Given the description of an element on the screen output the (x, y) to click on. 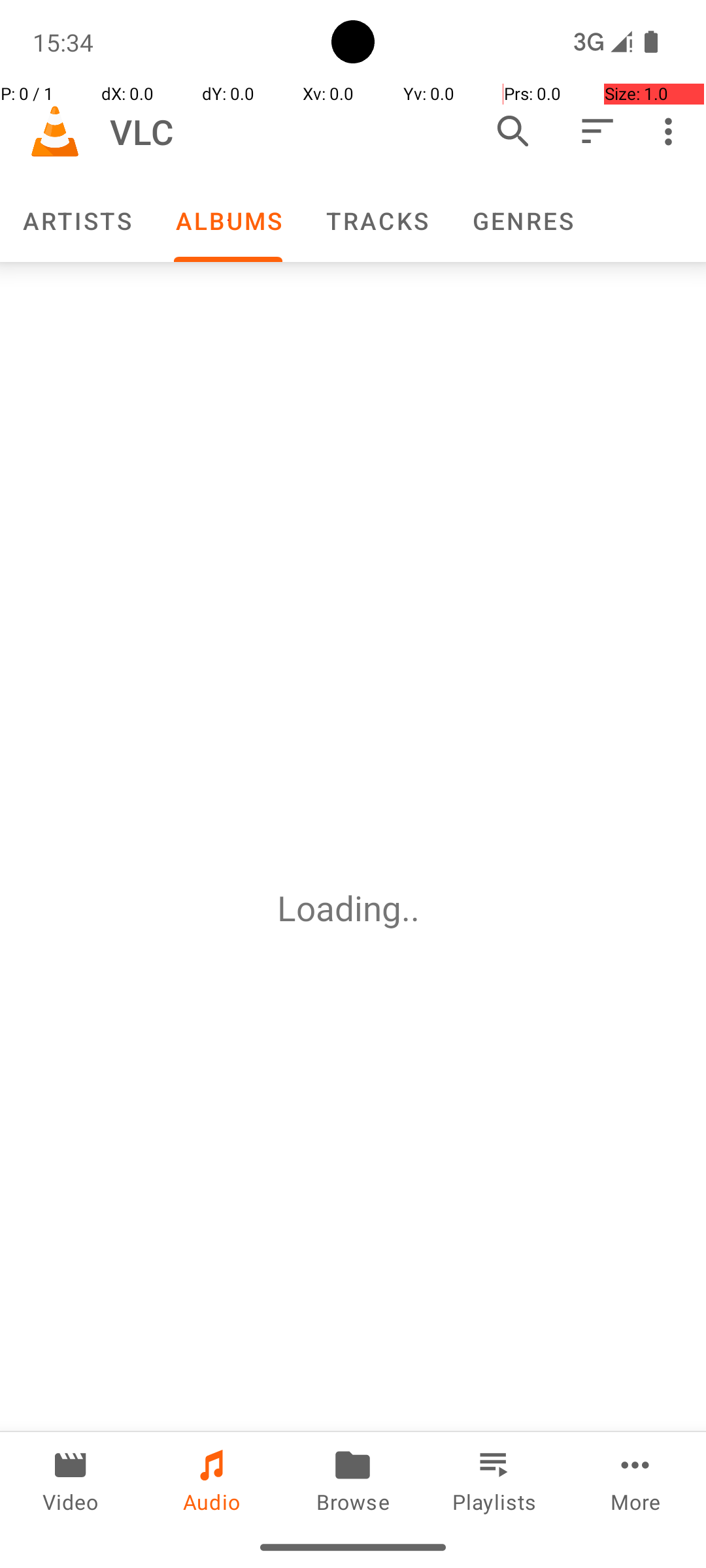
.. Element type: android.widget.TextView (414, 907)
